Given the description of an element on the screen output the (x, y) to click on. 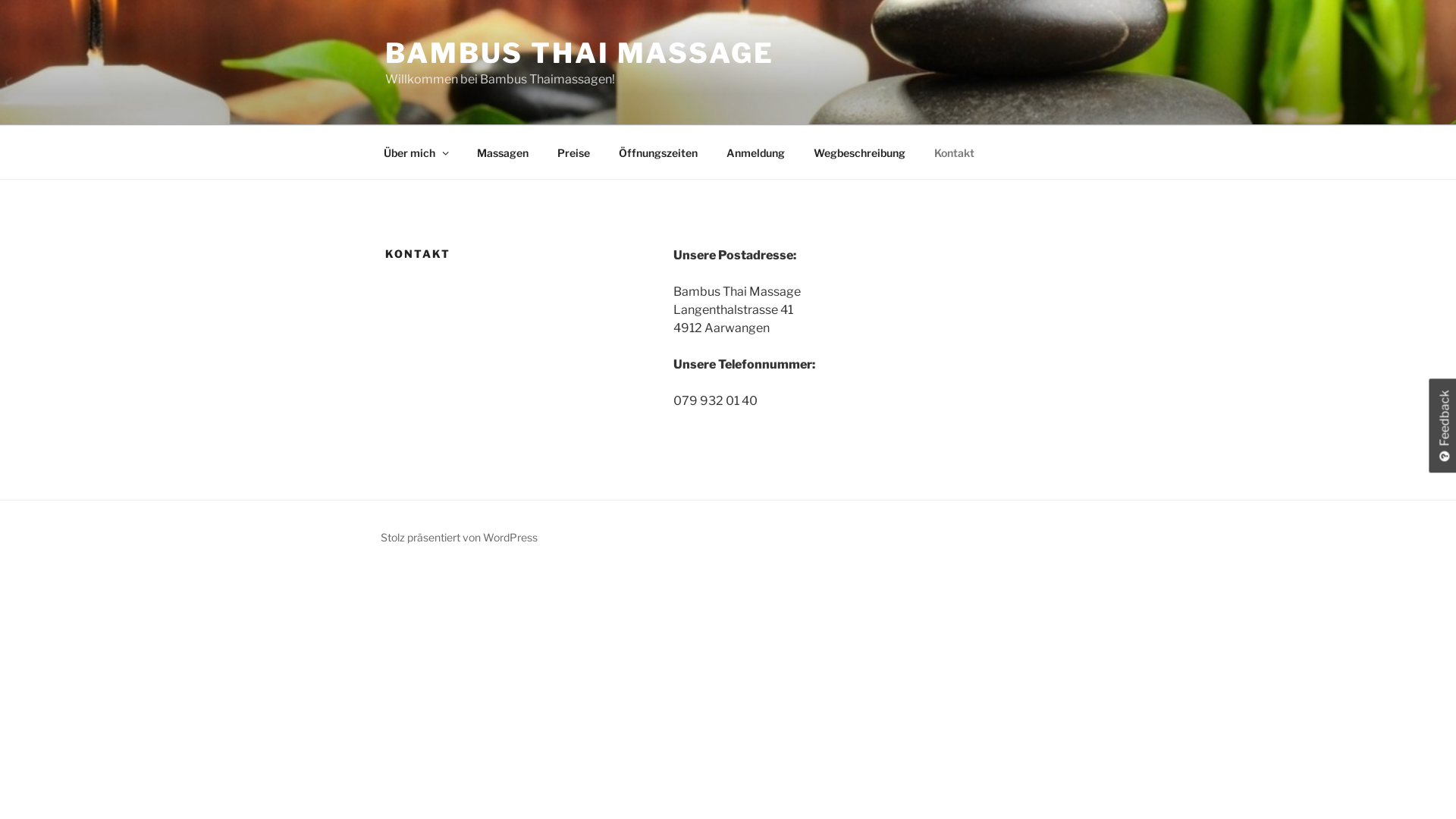
Wegbeschreibung Element type: text (859, 151)
Anmeldung Element type: text (754, 151)
Preise Element type: text (573, 151)
Massagen Element type: text (503, 151)
BAMBUS THAI MASSAGE Element type: text (579, 52)
Kontakt Element type: text (953, 151)
